Given the description of an element on the screen output the (x, y) to click on. 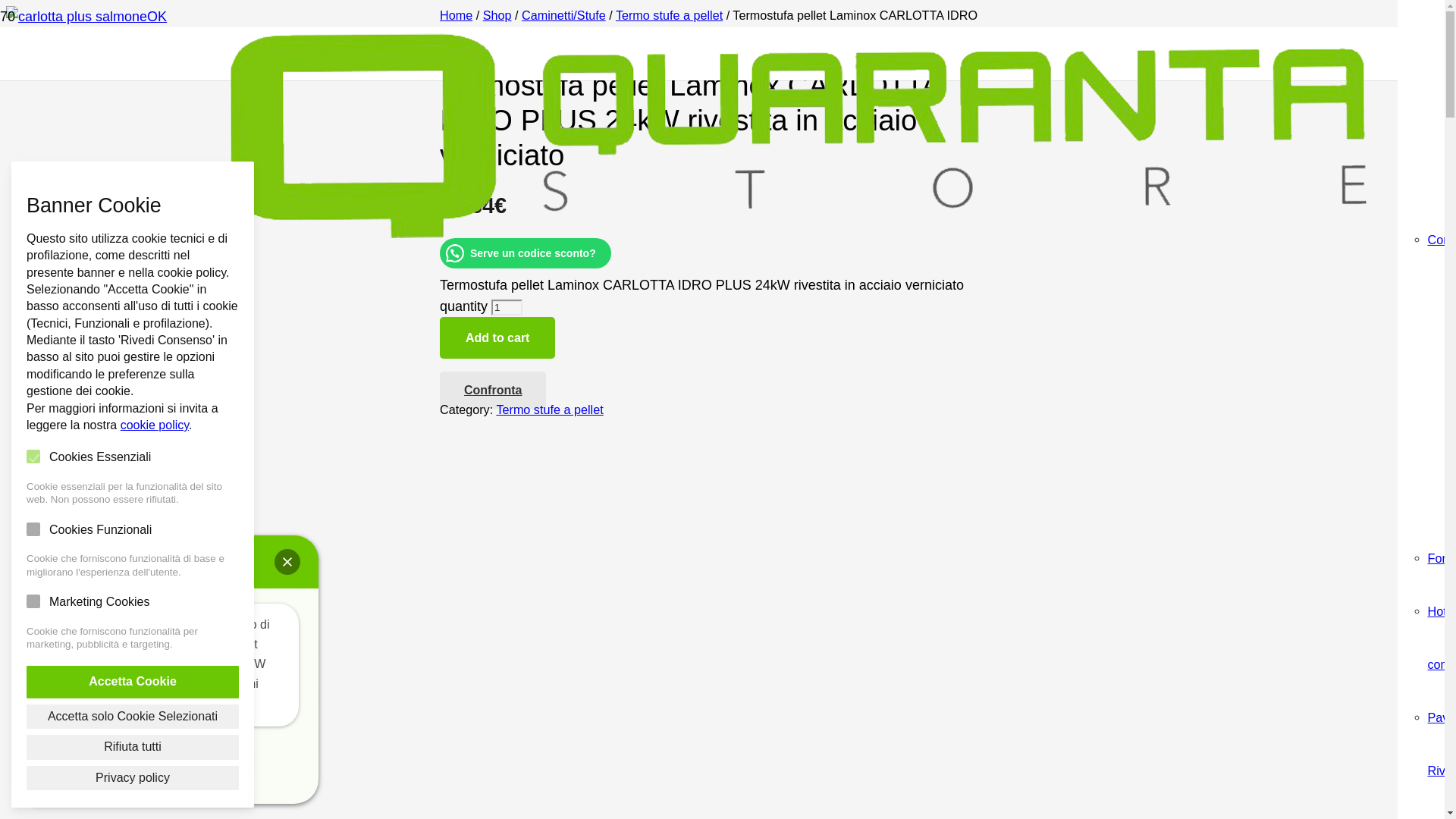
Termo stufe a pellet Element type: text (668, 14)
Add to cart Element type: text (497, 337)
Privacy policy Element type: text (132, 777)
Chiudi Element type: hover (287, 561)
Shop Element type: text (497, 14)
Caminetti/Stufe Element type: text (563, 14)
Home Element type: text (455, 14)
cookie policy Element type: text (154, 424)
Accetta Cookie Element type: text (132, 681)
Rifiuta tutti Element type: text (132, 746)
Forni Element type: text (1441, 557)
Termo stufe a pellet Element type: text (548, 409)
Accetta solo Cookie Selezionati Element type: text (132, 716)
Confronta Element type: text (492, 389)
